Given the description of an element on the screen output the (x, y) to click on. 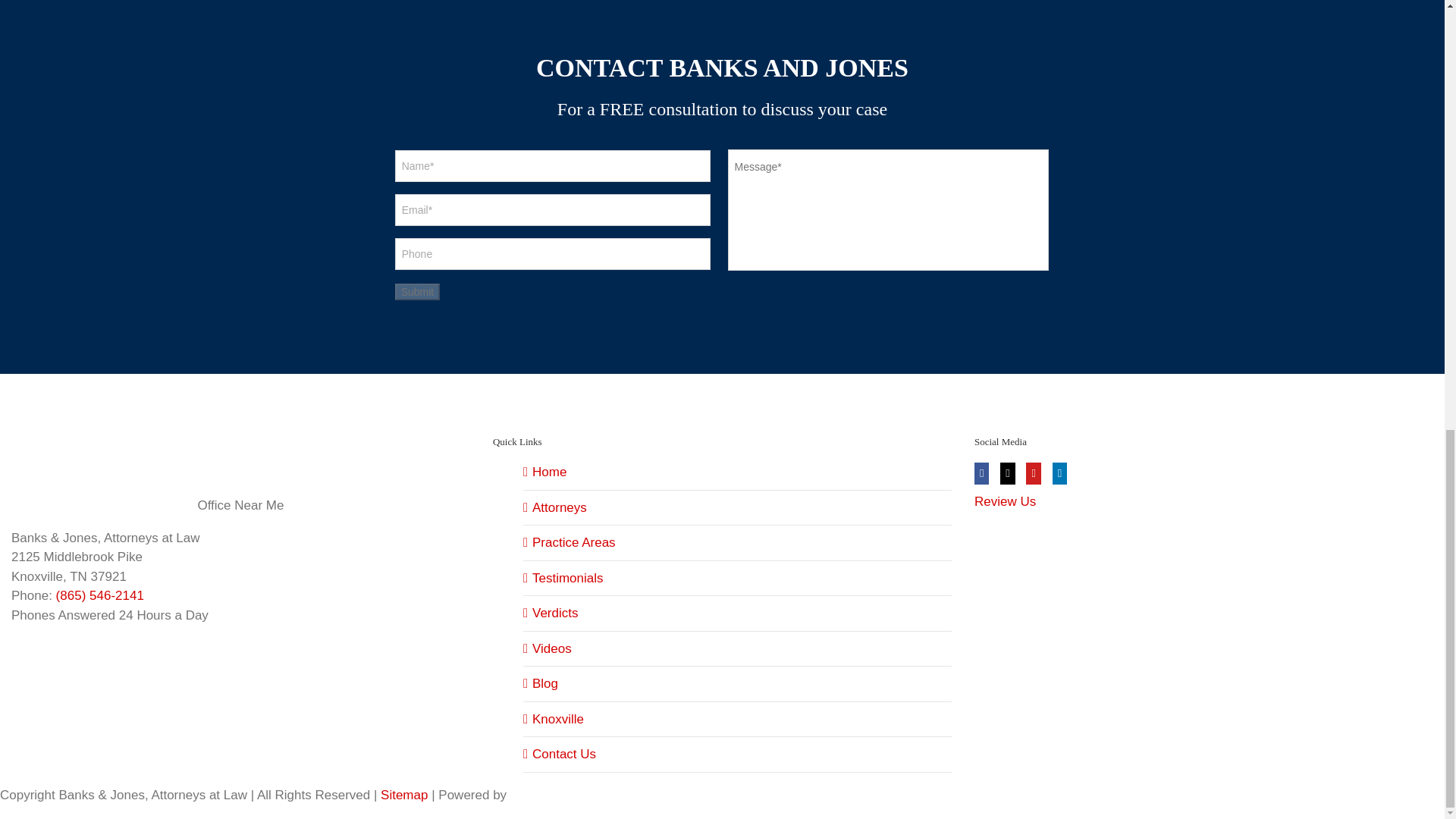
Submit (417, 291)
